Given the description of an element on the screen output the (x, y) to click on. 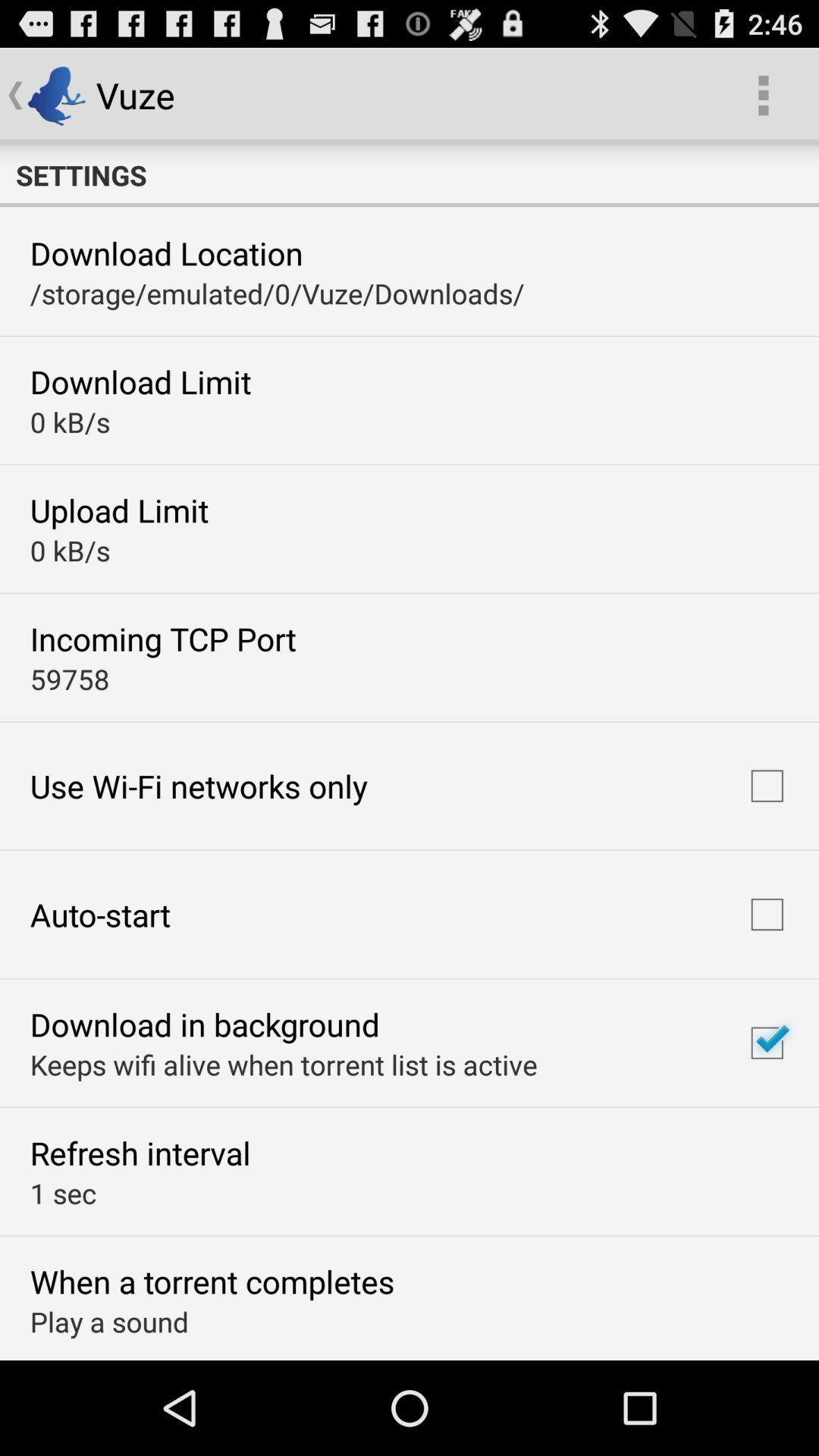
turn on the refresh interval app (140, 1152)
